Given the description of an element on the screen output the (x, y) to click on. 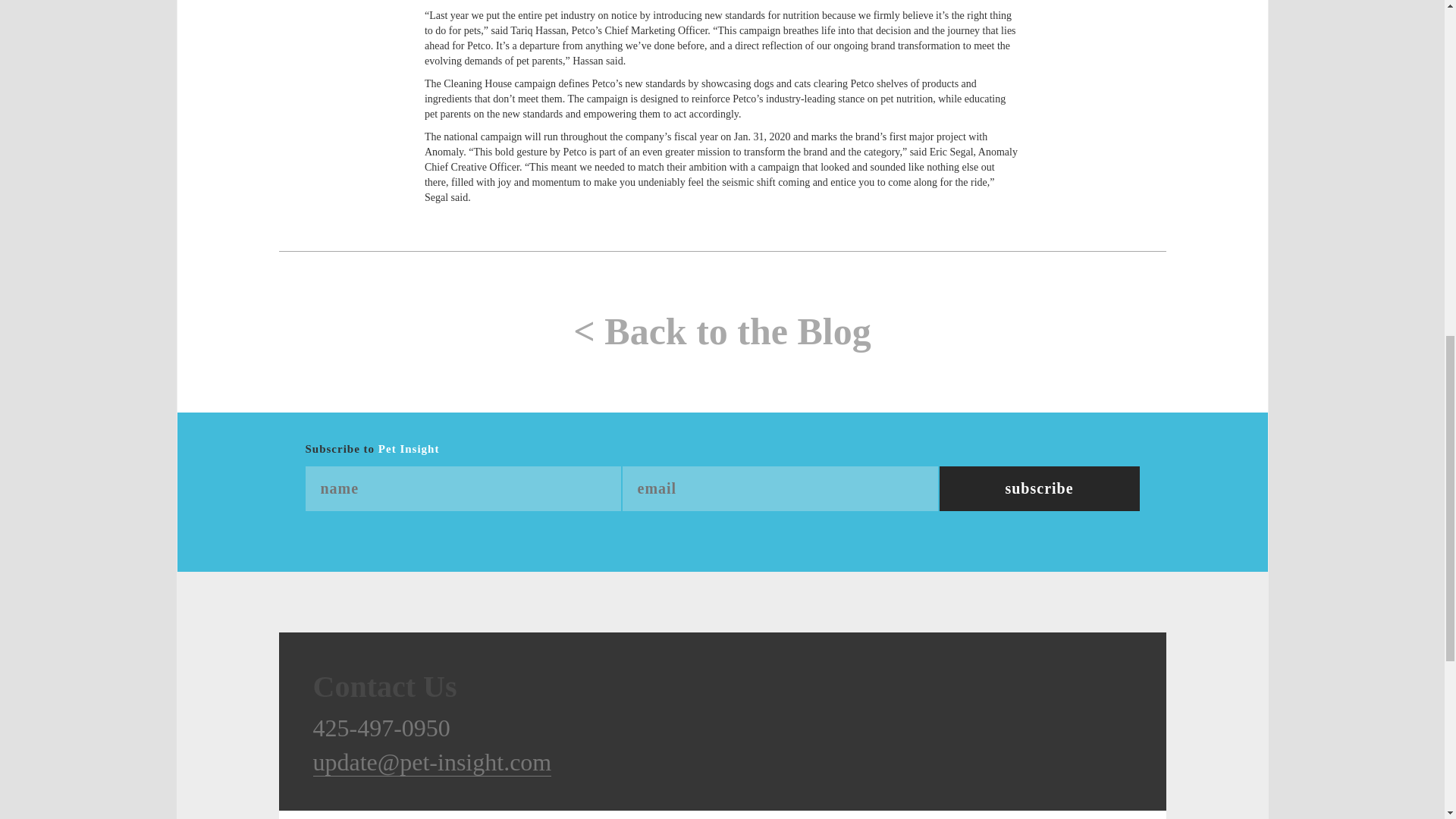
Magazine (355, 814)
Subscribe (1038, 488)
Subscribe (1038, 488)
